Given the description of an element on the screen output the (x, y) to click on. 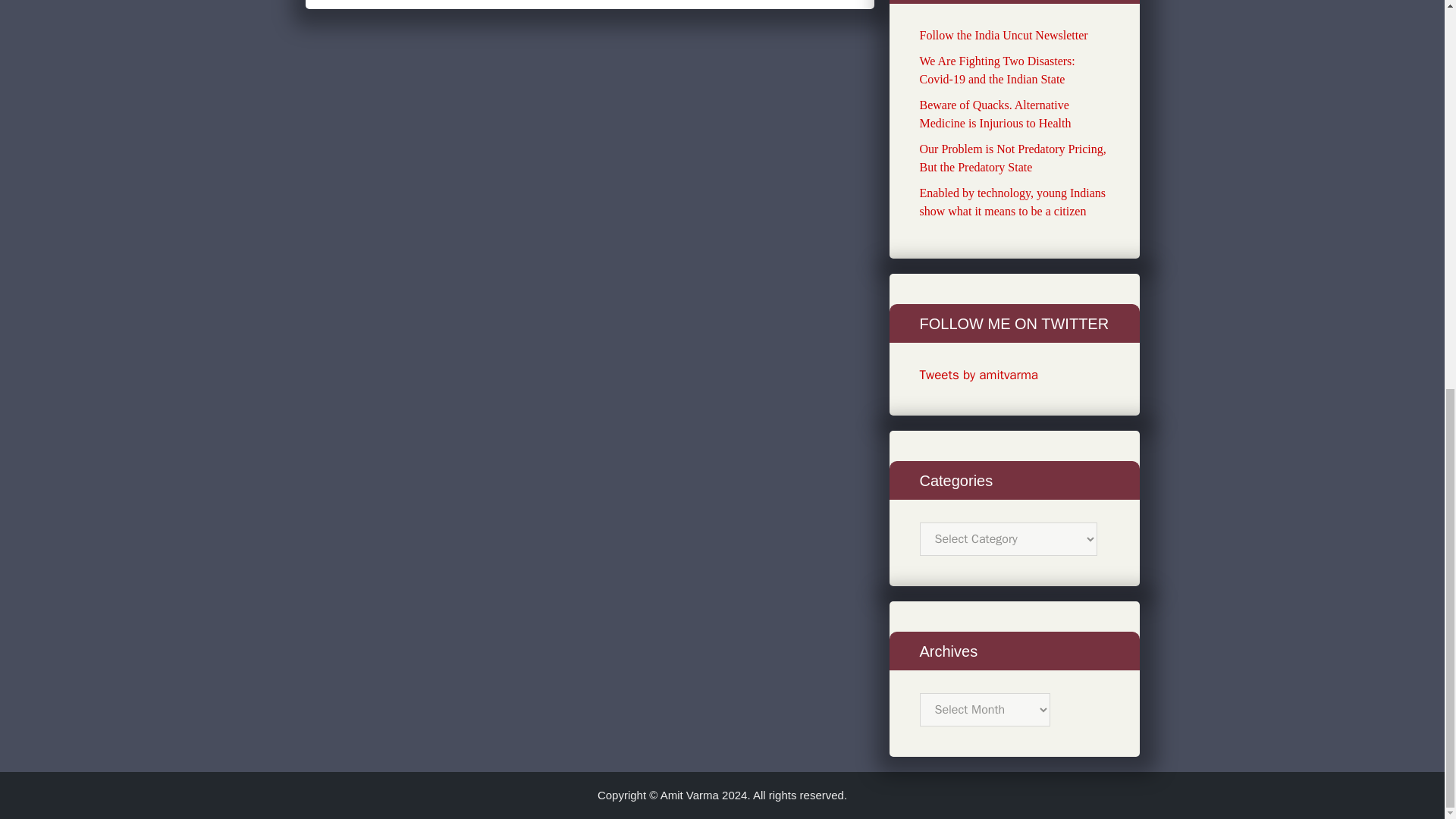
Scroll back to top (1406, 798)
Tweets by amitvarma (978, 374)
Follow the India Uncut Newsletter (1002, 34)
We Are Fighting Two Disasters: Covid-19 and the Indian State (996, 69)
